Given the description of an element on the screen output the (x, y) to click on. 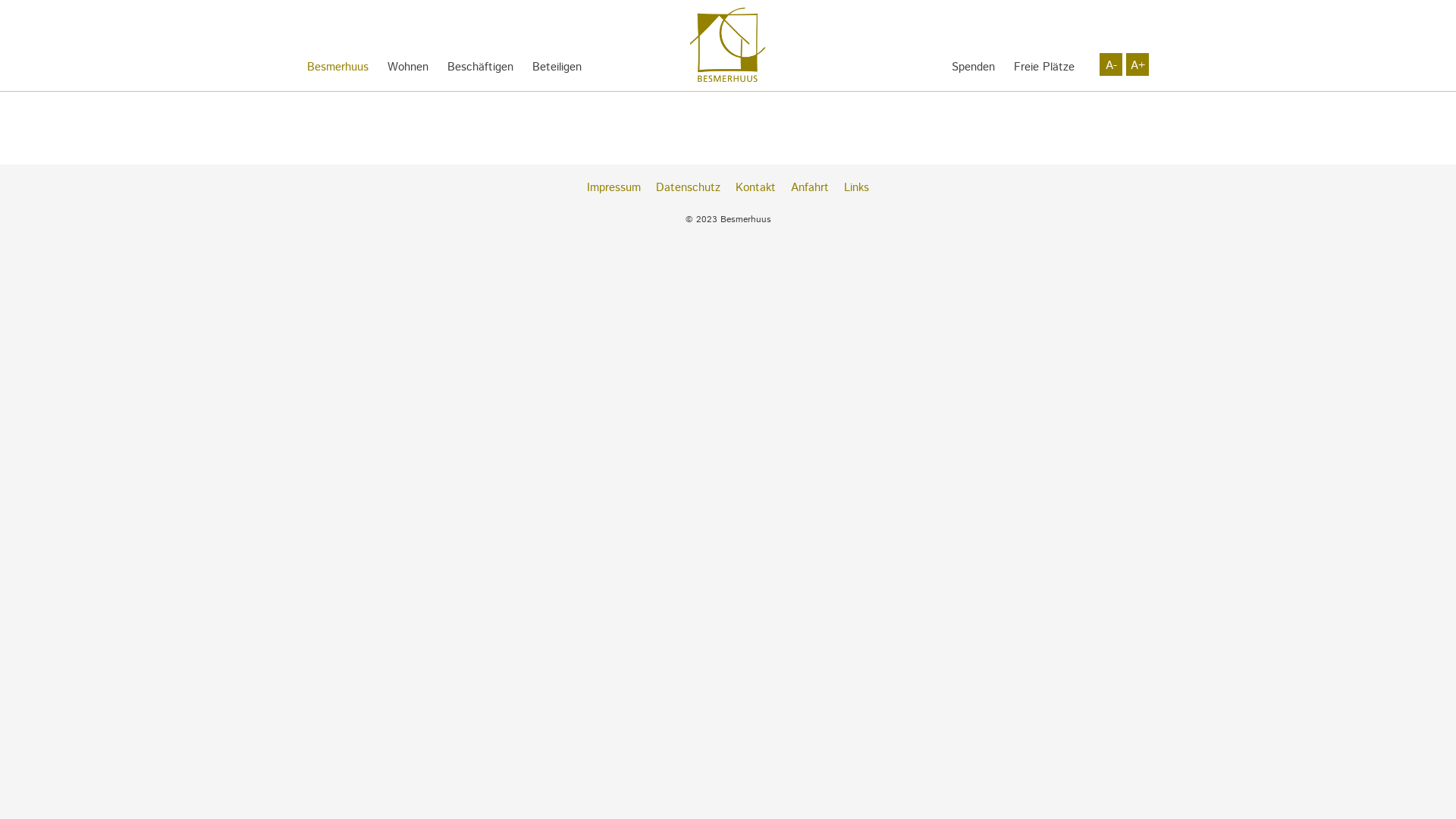
Wohnen Element type: text (407, 67)
Kontakt Element type: text (755, 187)
Impressum Element type: text (613, 187)
A- Element type: text (1110, 64)
Spenden Element type: text (972, 67)
Anfahrt Element type: text (809, 187)
A+ Element type: text (1137, 64)
Links Element type: text (856, 187)
Beteiligen Element type: text (556, 67)
Besmerhuus Element type: text (337, 67)
Datenschutz Element type: text (687, 187)
